Given the description of an element on the screen output the (x, y) to click on. 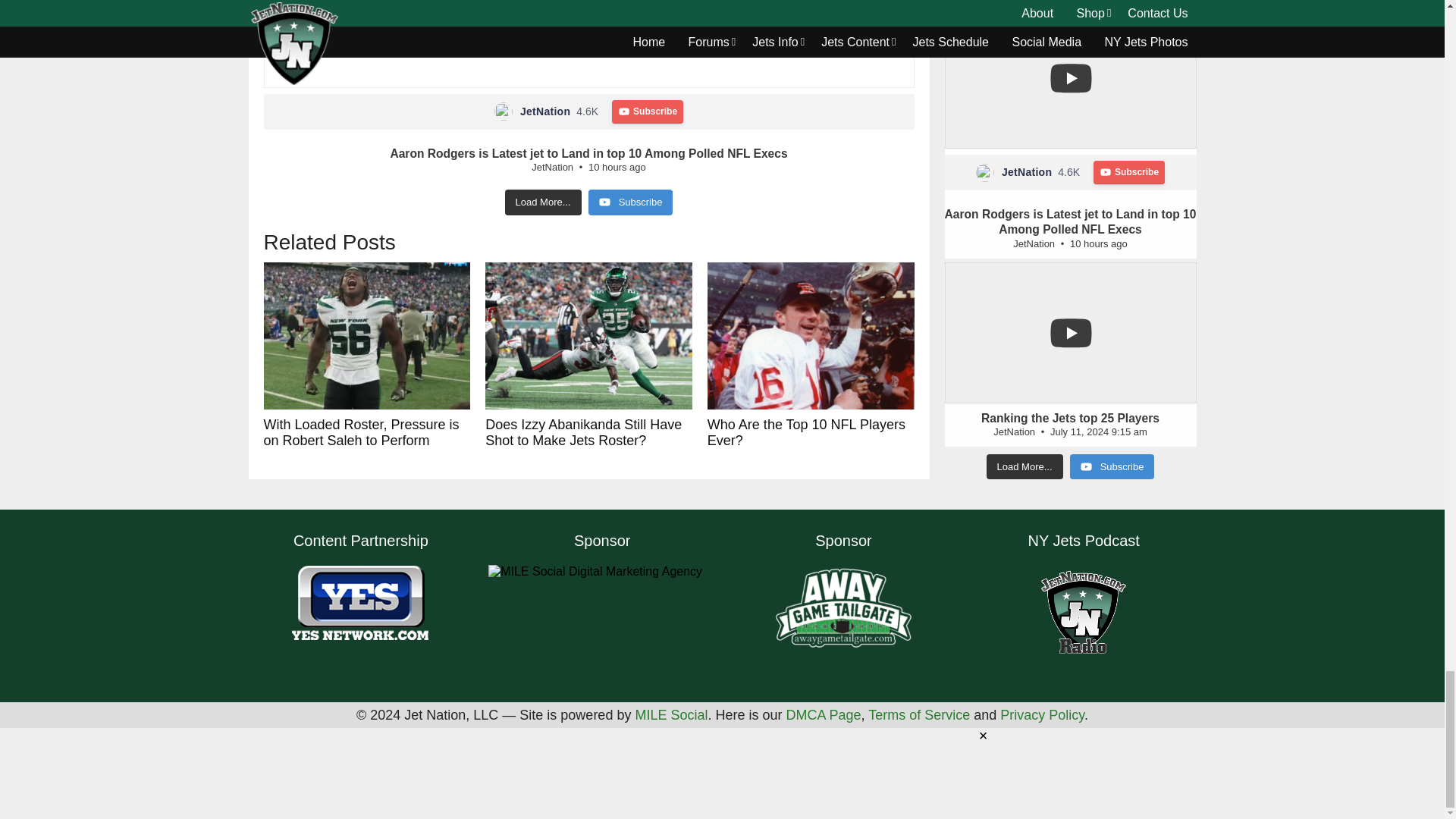
Who Are the Top 10 NFL Players Ever? (810, 336)
Does Izzy Abanikanda Still Have Shot to Make Jets Roster? (588, 336)
With Loaded Roster, Pressure is on Robert Saleh to Perform (366, 336)
